Given the description of an element on the screen output the (x, y) to click on. 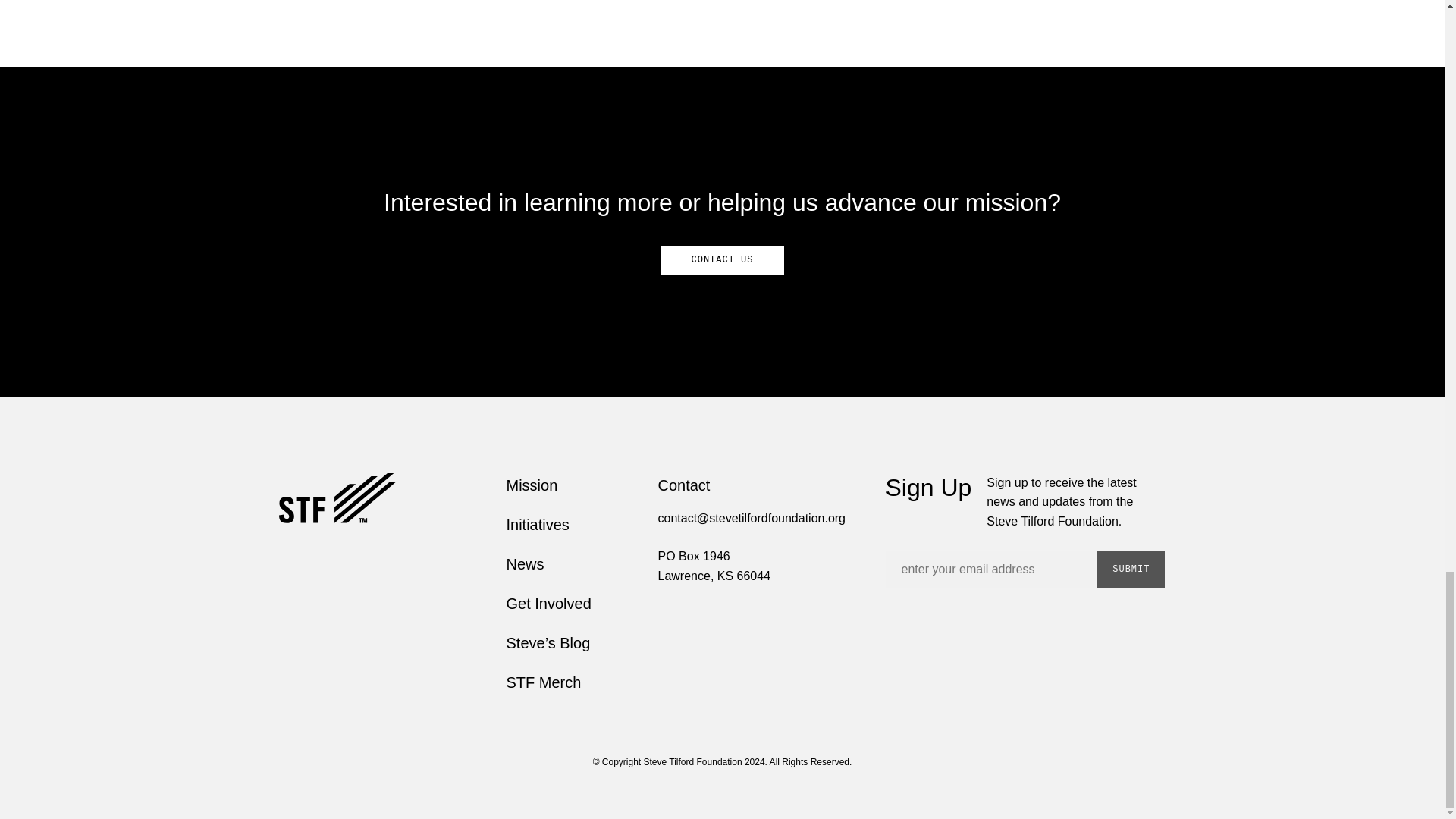
News (525, 564)
CONTACT US (721, 260)
Submit (1131, 569)
Submit (1131, 569)
Get Involved (548, 603)
Initiatives (537, 524)
STF Merch (543, 682)
Mission (531, 484)
